Given the description of an element on the screen output the (x, y) to click on. 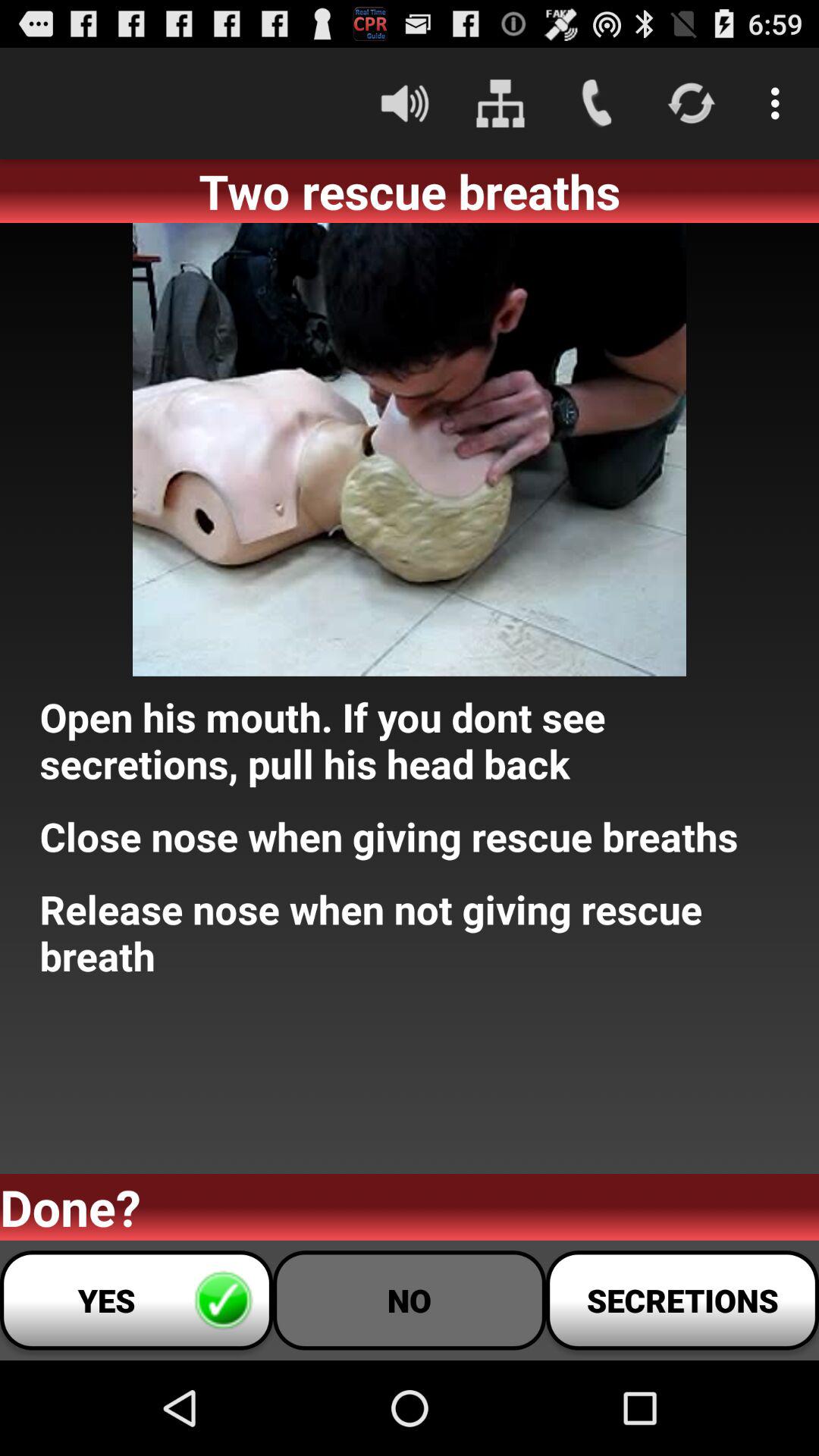
choose app below the done? icon (136, 1300)
